Given the description of an element on the screen output the (x, y) to click on. 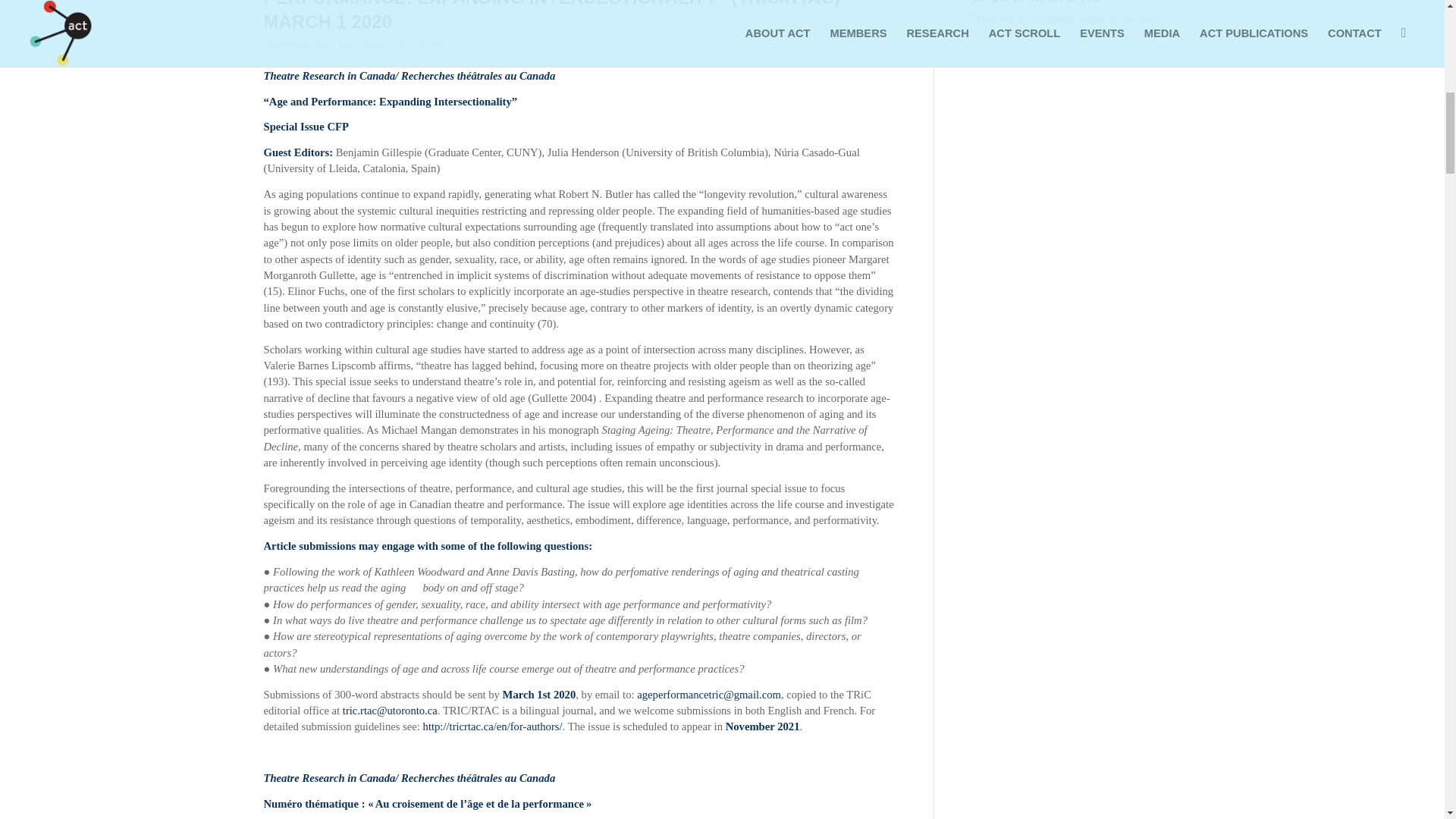
ACT Scroll (365, 43)
Scott (436, 43)
Posts by Scott (436, 43)
CFP (396, 43)
